Given the description of an element on the screen output the (x, y) to click on. 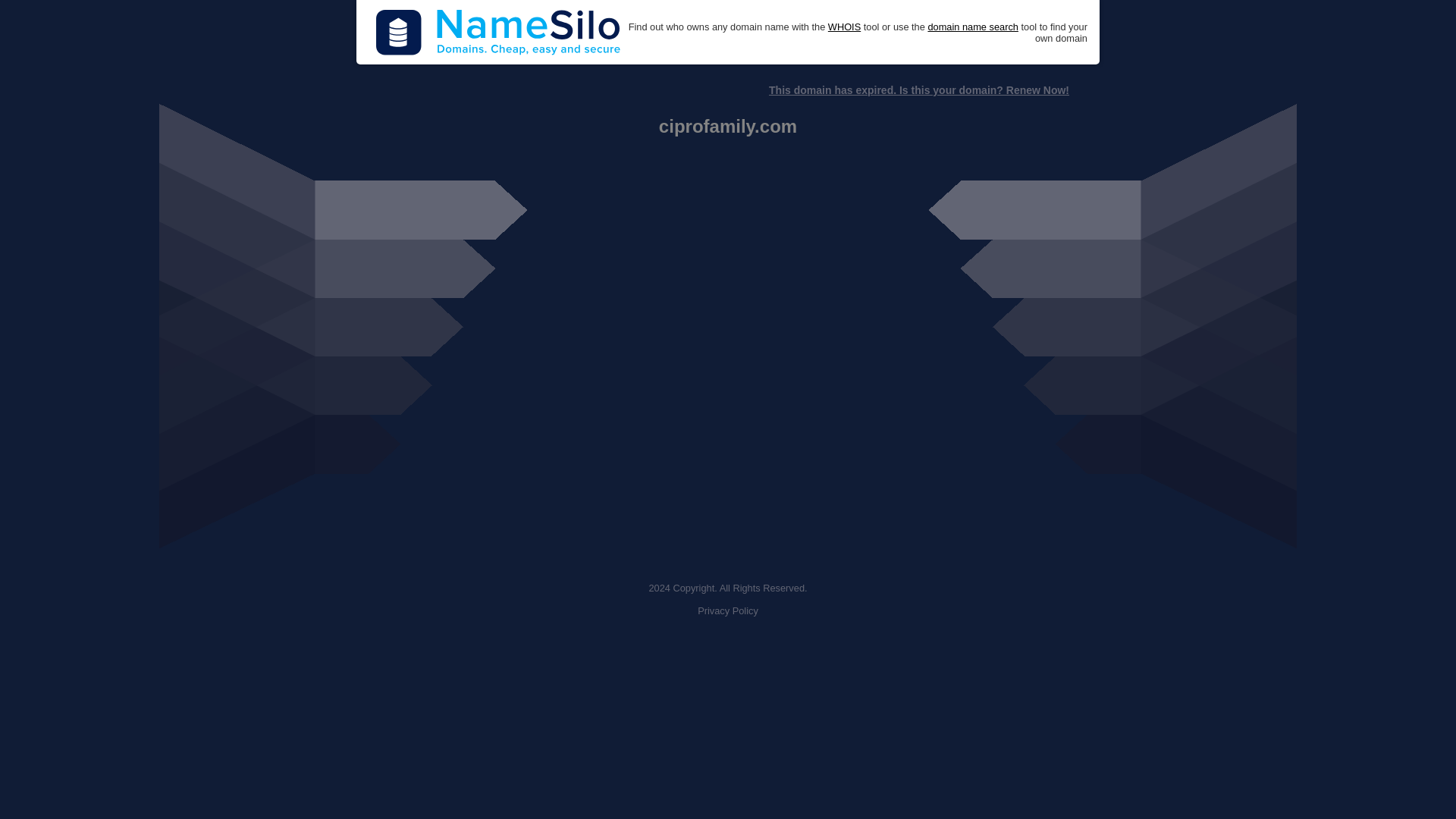
WHOIS (844, 26)
This domain has expired. Is this your domain? Renew Now! (918, 90)
Privacy Policy (727, 610)
domain name search (972, 26)
